Given the description of an element on the screen output the (x, y) to click on. 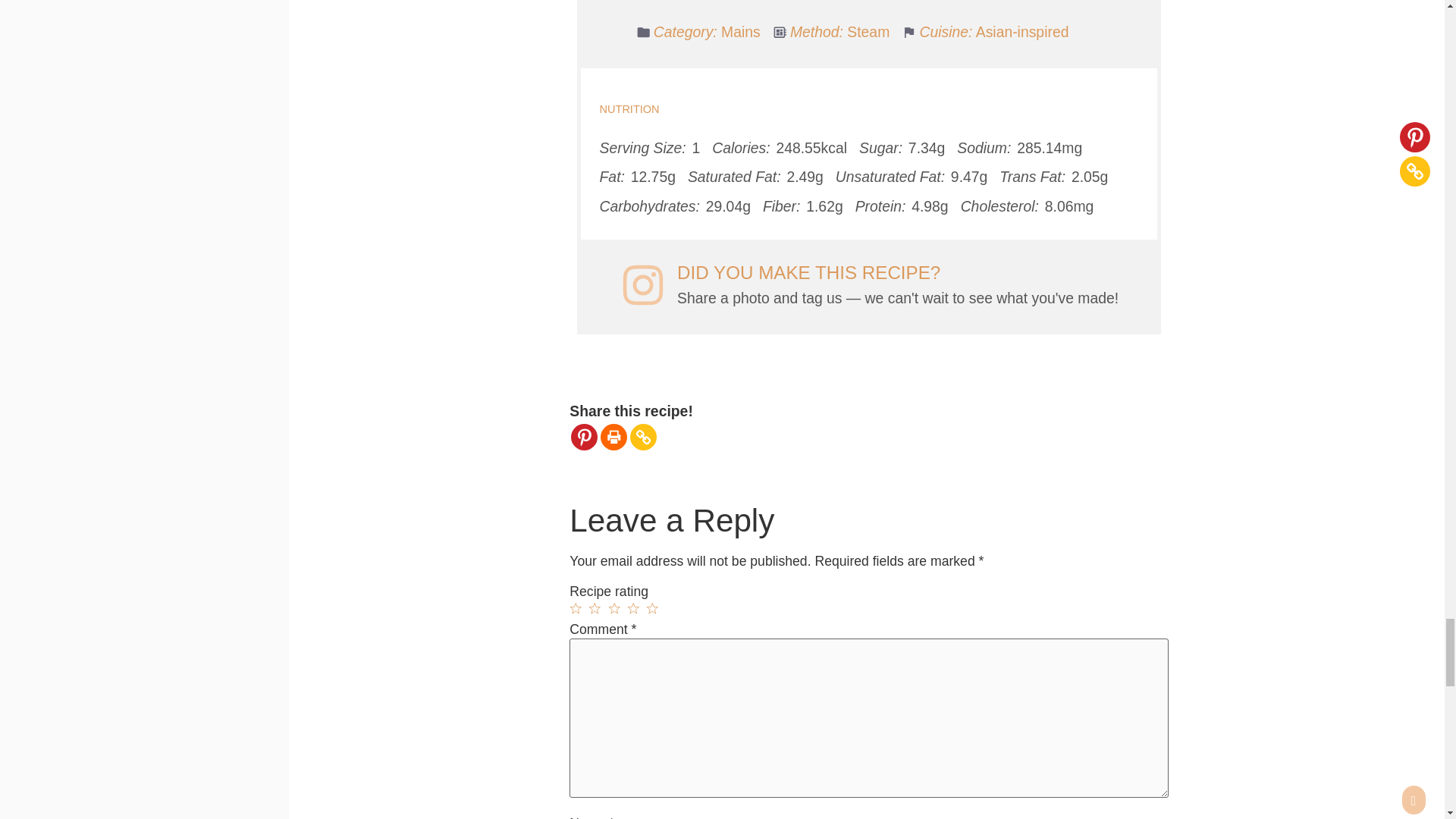
Print (613, 437)
Pinterest (583, 437)
Copy Link (643, 437)
